Given the description of an element on the screen output the (x, y) to click on. 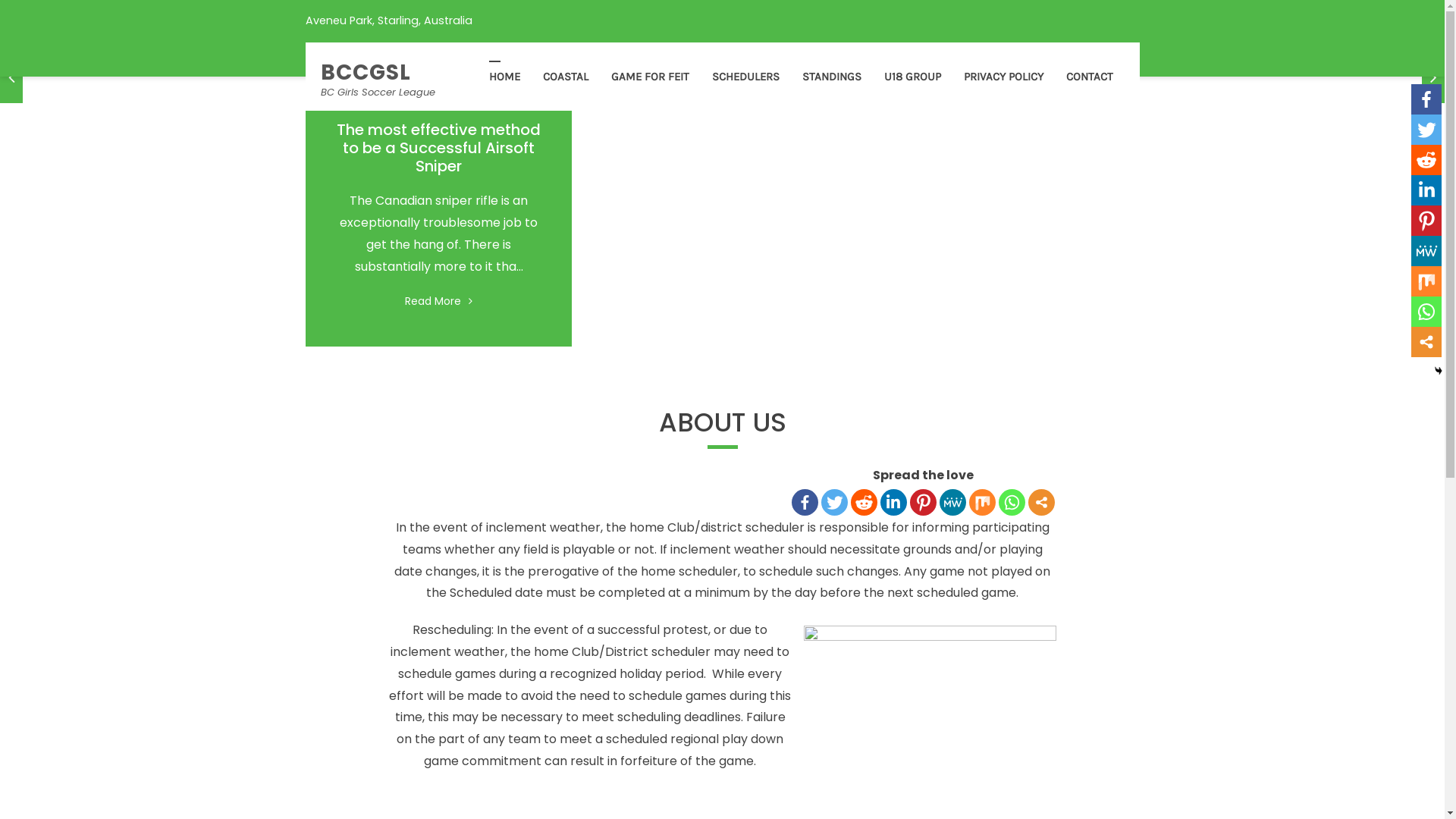
Linkedin Element type: hover (1426, 190)
Linkedin Element type: hover (892, 502)
Hide Element type: hover (1438, 370)
More Element type: hover (1041, 502)
BCCGSL Element type: text (365, 72)
SCHEDULERS Element type: text (745, 76)
HOME Element type: text (504, 76)
Read More Element type: text (438, 300)
COASTAL Element type: text (564, 76)
U18 GROUP Element type: text (911, 76)
MeWe Element type: hover (951, 502)
Pinterest Element type: hover (923, 502)
More Element type: hover (1426, 341)
Mix Element type: hover (982, 502)
Whatsapp Element type: hover (1426, 311)
Twitter Element type: hover (1426, 129)
CONTACT Element type: text (1088, 76)
GAME FOR FEIT Element type: text (649, 76)
MeWe Element type: hover (1426, 250)
Whatsapp Element type: hover (1010, 502)
PRIVACY POLICY Element type: text (1003, 76)
STANDINGS Element type: text (831, 76)
Reddit Element type: hover (1426, 159)
Reddit Element type: hover (863, 502)
Twitter Element type: hover (833, 502)
Mix Element type: hover (1426, 281)
Facebook Element type: hover (1426, 99)
Pinterest Element type: hover (1426, 220)
Facebook Element type: hover (804, 502)
